Given the description of an element on the screen output the (x, y) to click on. 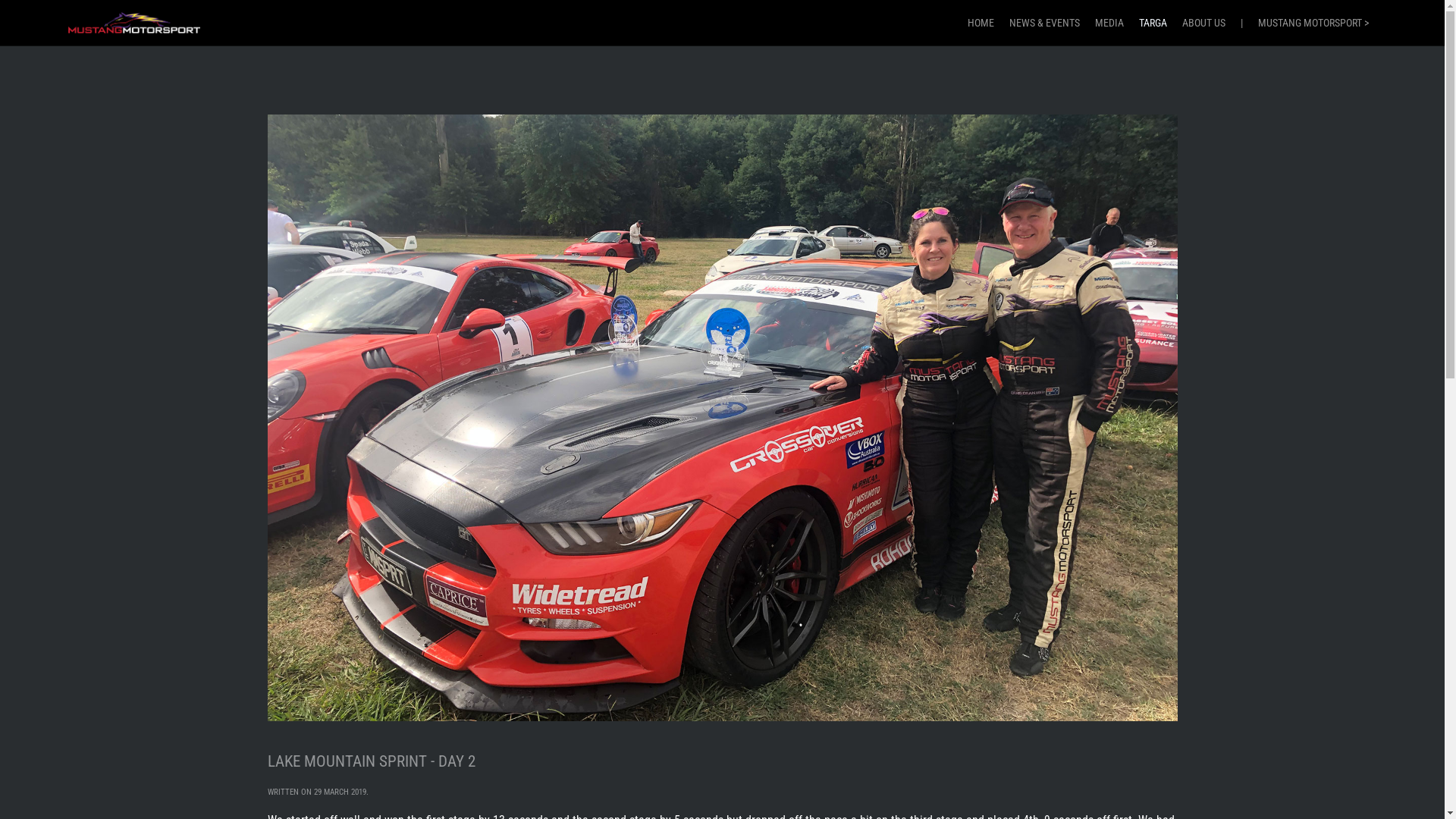
NEWS & EVENTS Element type: text (1044, 22)
ABOUT US Element type: text (1203, 22)
MEDIA Element type: text (1109, 22)
| Element type: text (1241, 22)
HOME Element type: text (980, 22)
TARGA Element type: text (1152, 22)
MUSTANG MOTORSPORT > Element type: text (1313, 22)
